Given the description of an element on the screen output the (x, y) to click on. 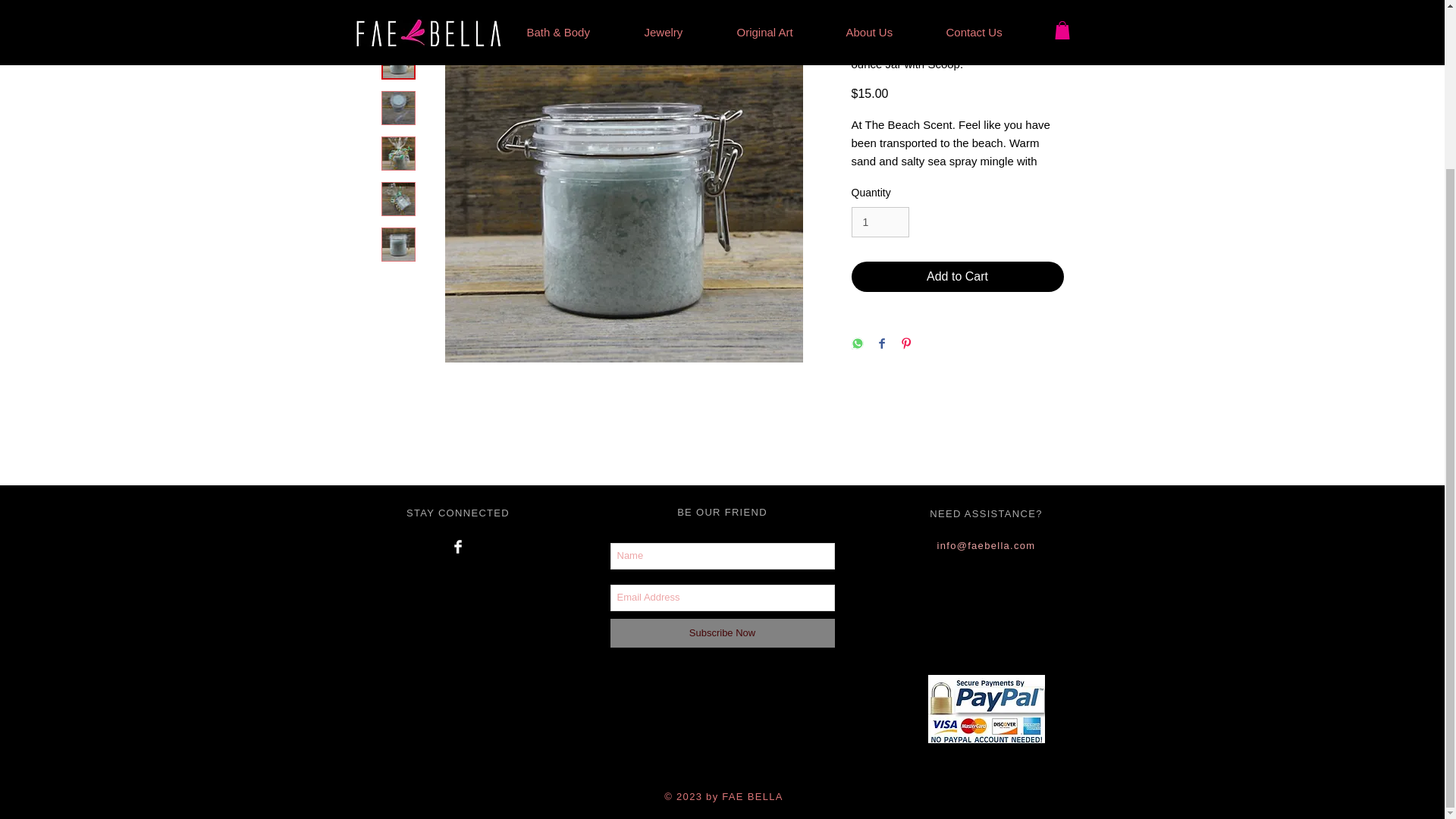
1 (879, 222)
Add to Cart (956, 276)
Subscribe Now (722, 633)
